Given the description of an element on the screen output the (x, y) to click on. 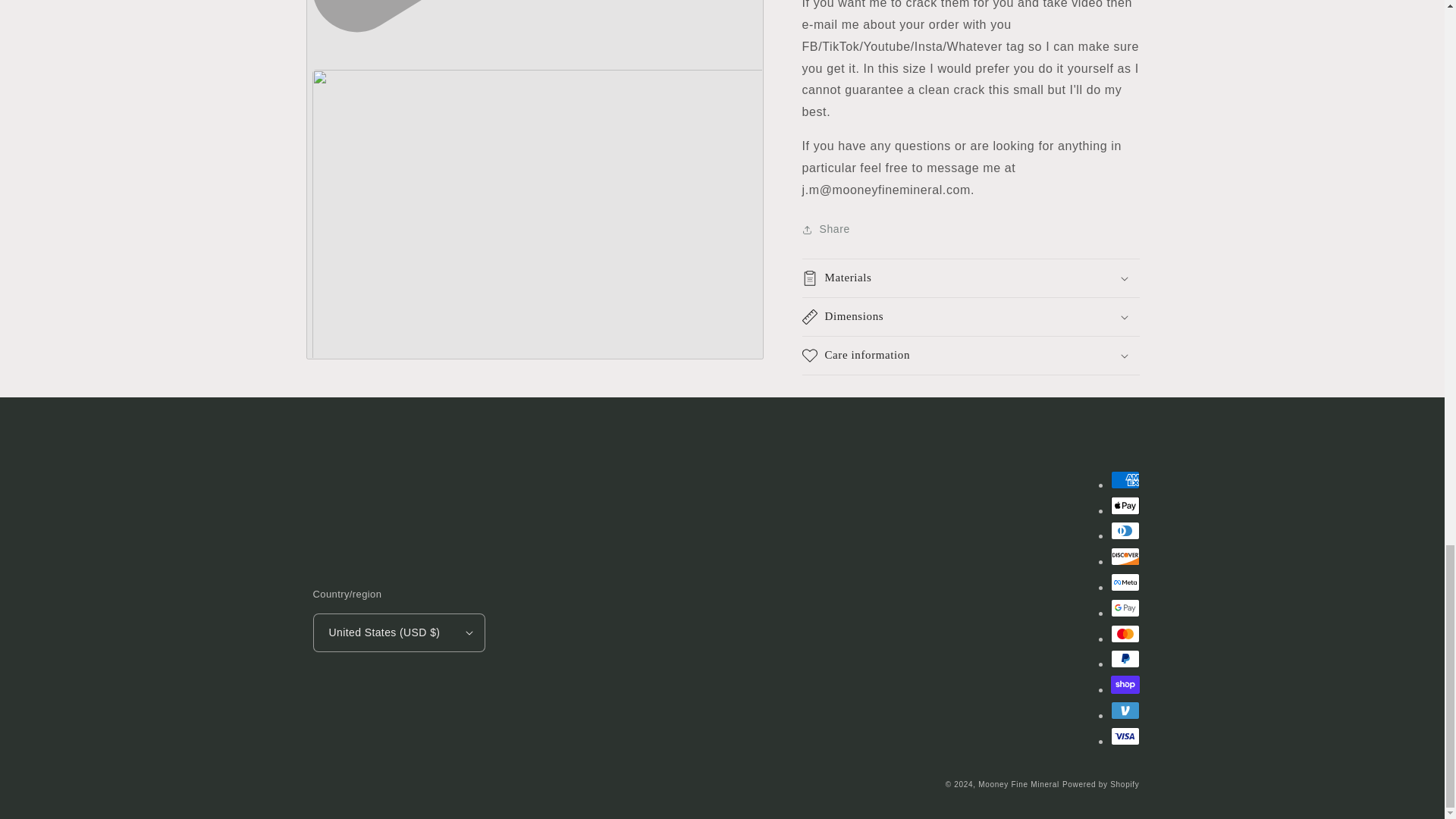
Apple Pay (1123, 505)
Discover (1123, 556)
American Express (1123, 479)
Meta Pay (1123, 582)
Diners Club (1123, 530)
